Given the description of an element on the screen output the (x, y) to click on. 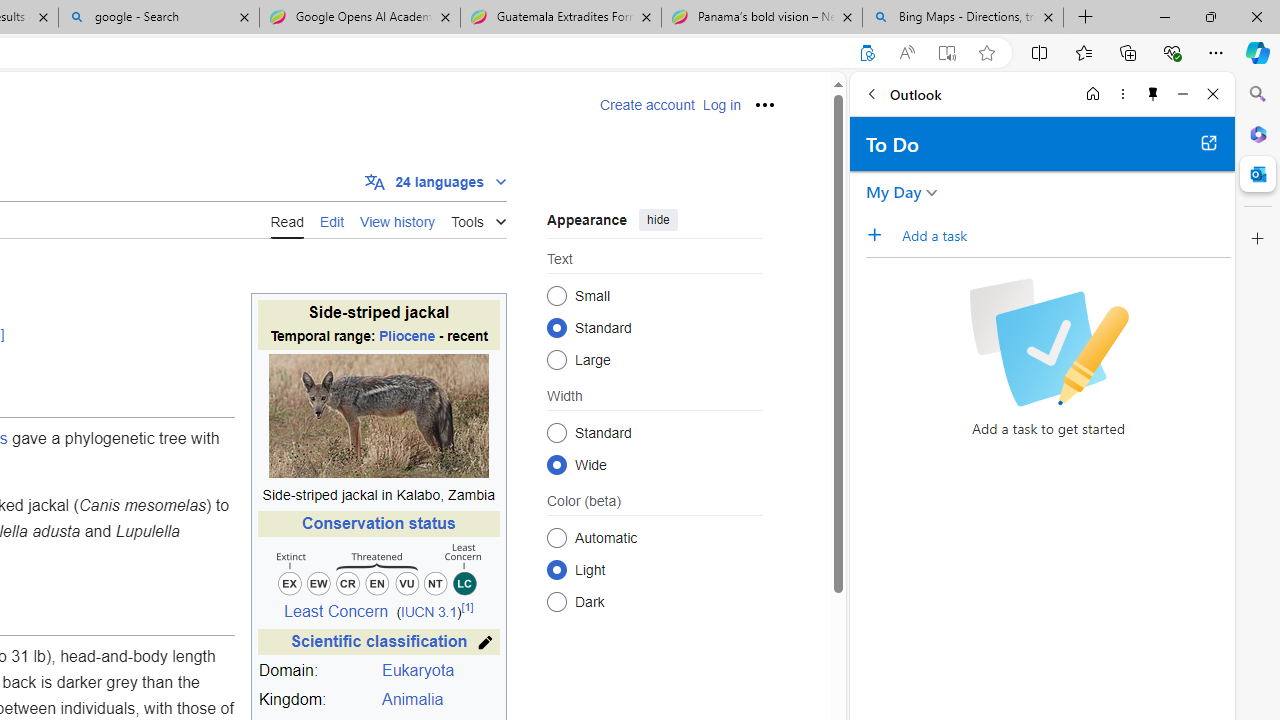
Log in (721, 105)
View history (397, 219)
Edit this classification (485, 642)
Class: mw-list-item mw-list-item-js (654, 569)
Kingdom: (317, 700)
Add a task (881, 235)
Edit (331, 219)
Tools (478, 218)
Standard (556, 431)
Pliocene (406, 336)
Side-striped jackal in Kalabo, Zambia (378, 495)
